Given the description of an element on the screen output the (x, y) to click on. 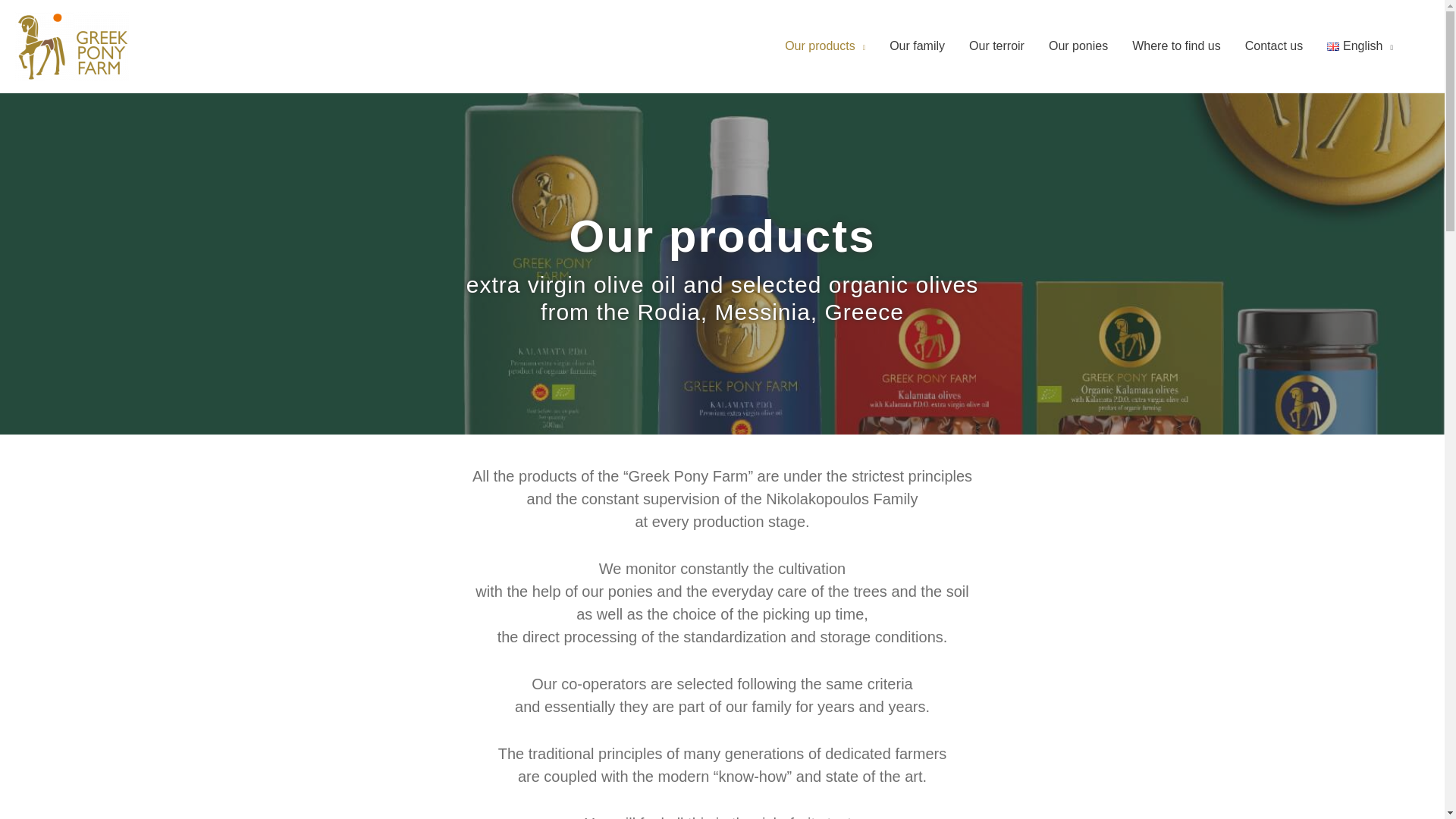
Our terroir (996, 46)
Our family (916, 46)
Our ponies (1077, 46)
Contact us (1273, 46)
English (1359, 46)
Our products (825, 46)
Where to find us (1176, 46)
